Given the description of an element on the screen output the (x, y) to click on. 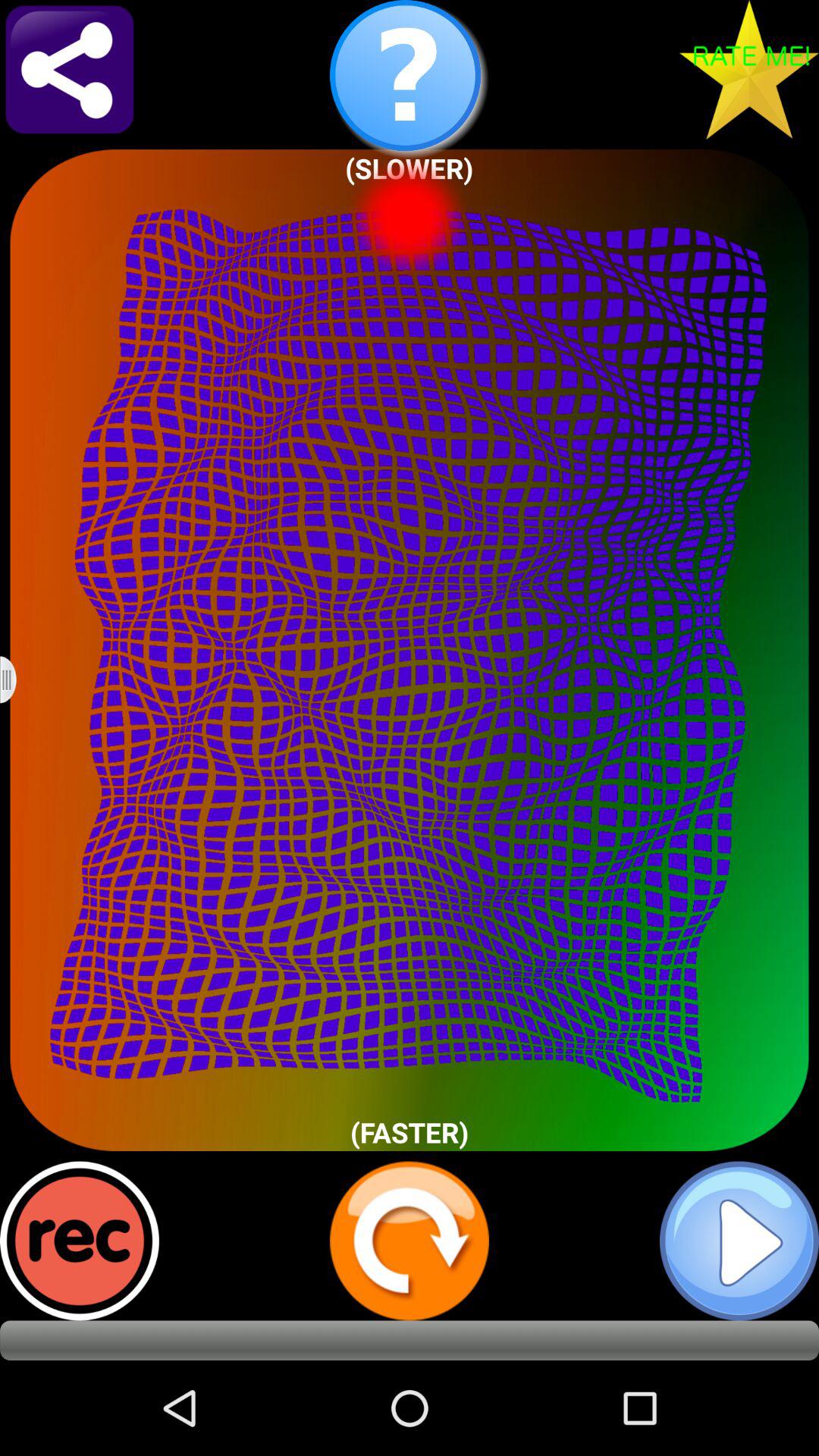
share (69, 69)
